Given the description of an element on the screen output the (x, y) to click on. 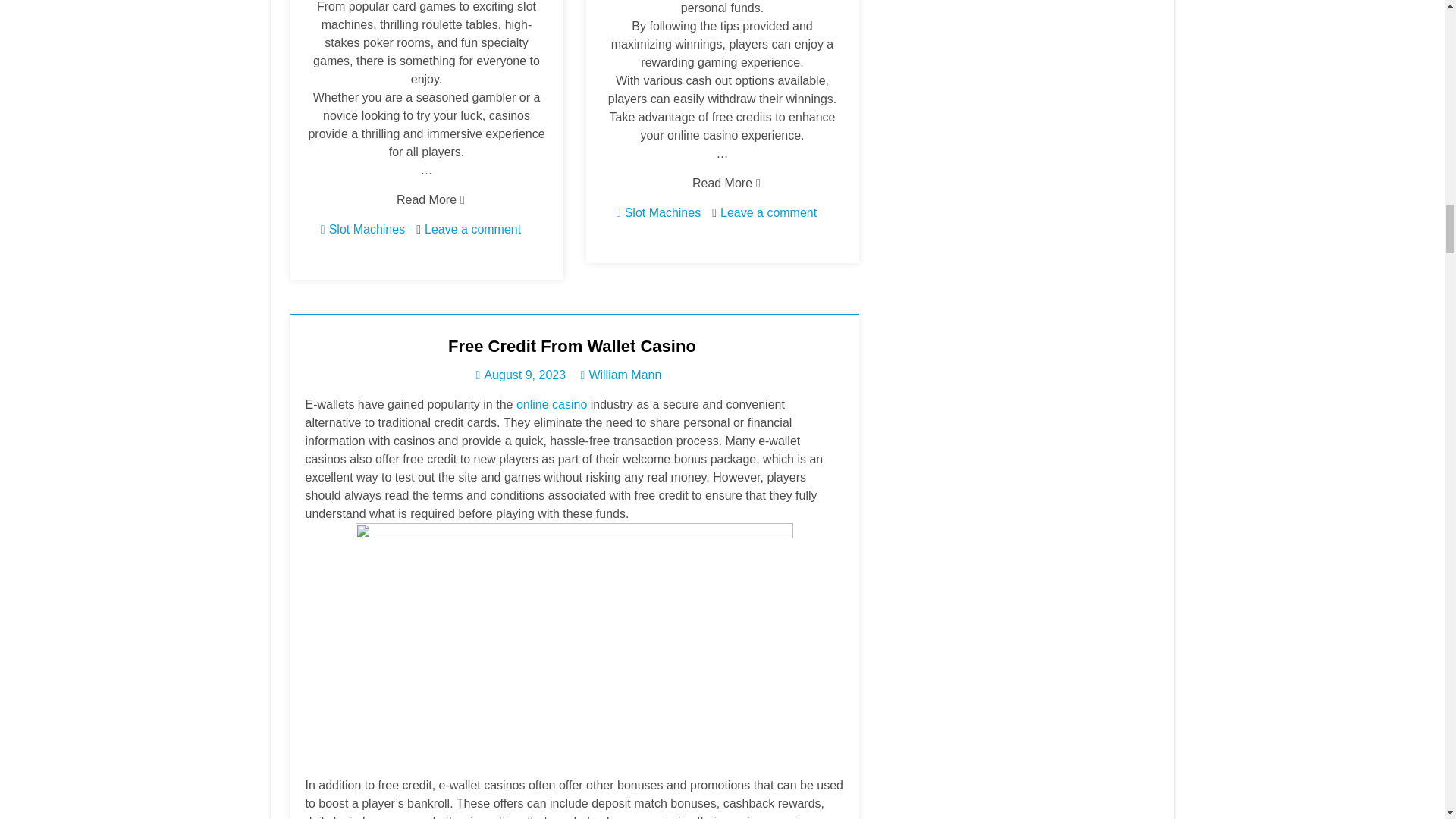
Read More (722, 183)
August 9, 2023 (521, 374)
Slot Machines (367, 228)
Read More (426, 199)
Slot Machines (662, 212)
Free Credit From Wallet Casino  (574, 345)
Leave a comment (768, 212)
William Mann (624, 374)
Leave a comment (473, 228)
online casino (551, 404)
